Given the description of an element on the screen output the (x, y) to click on. 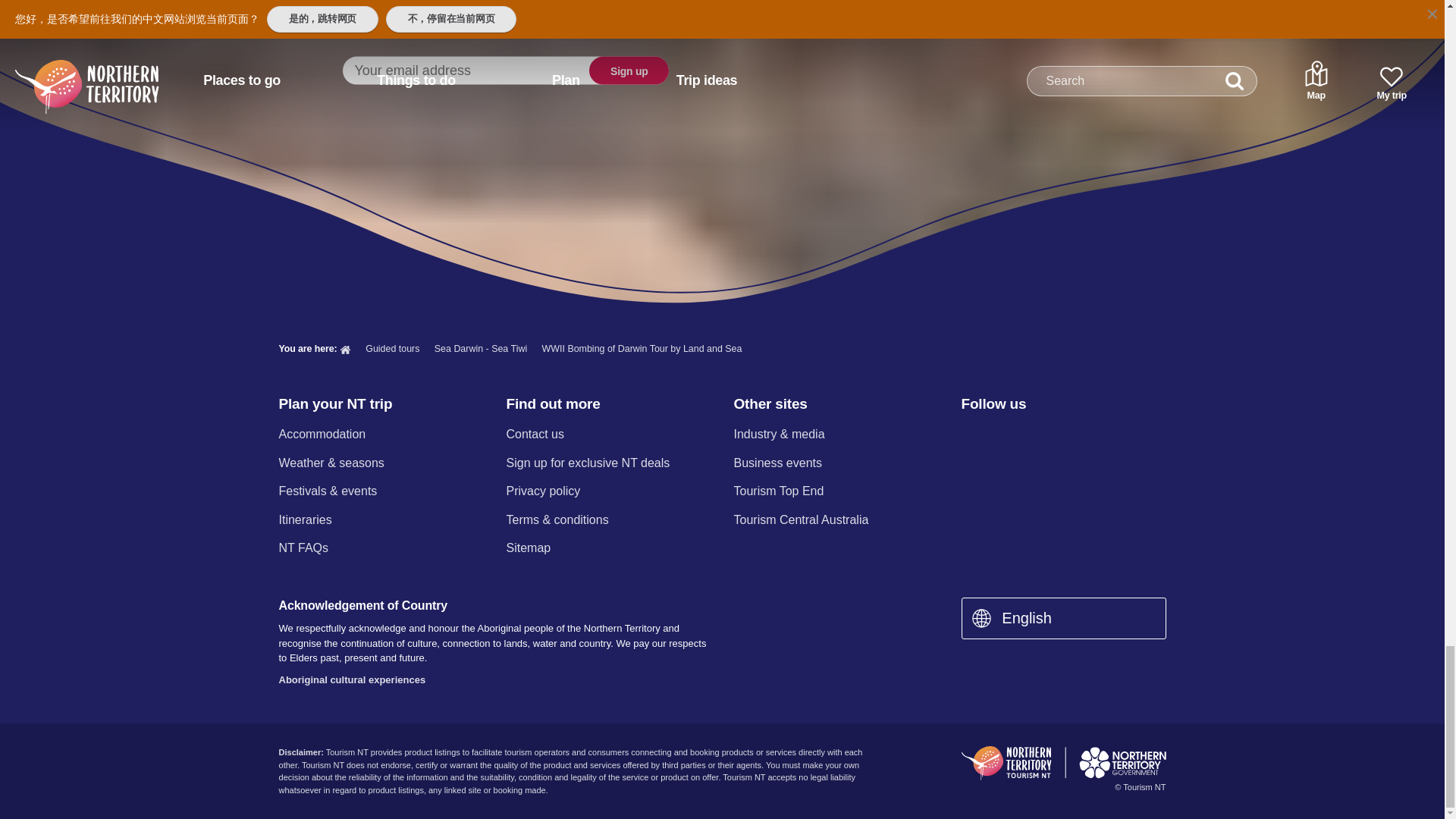
Facebook (970, 435)
Trip Advisor (1129, 435)
YouTube (1089, 435)
Instagram (1009, 435)
Twitter (1050, 435)
